Given the description of an element on the screen output the (x, y) to click on. 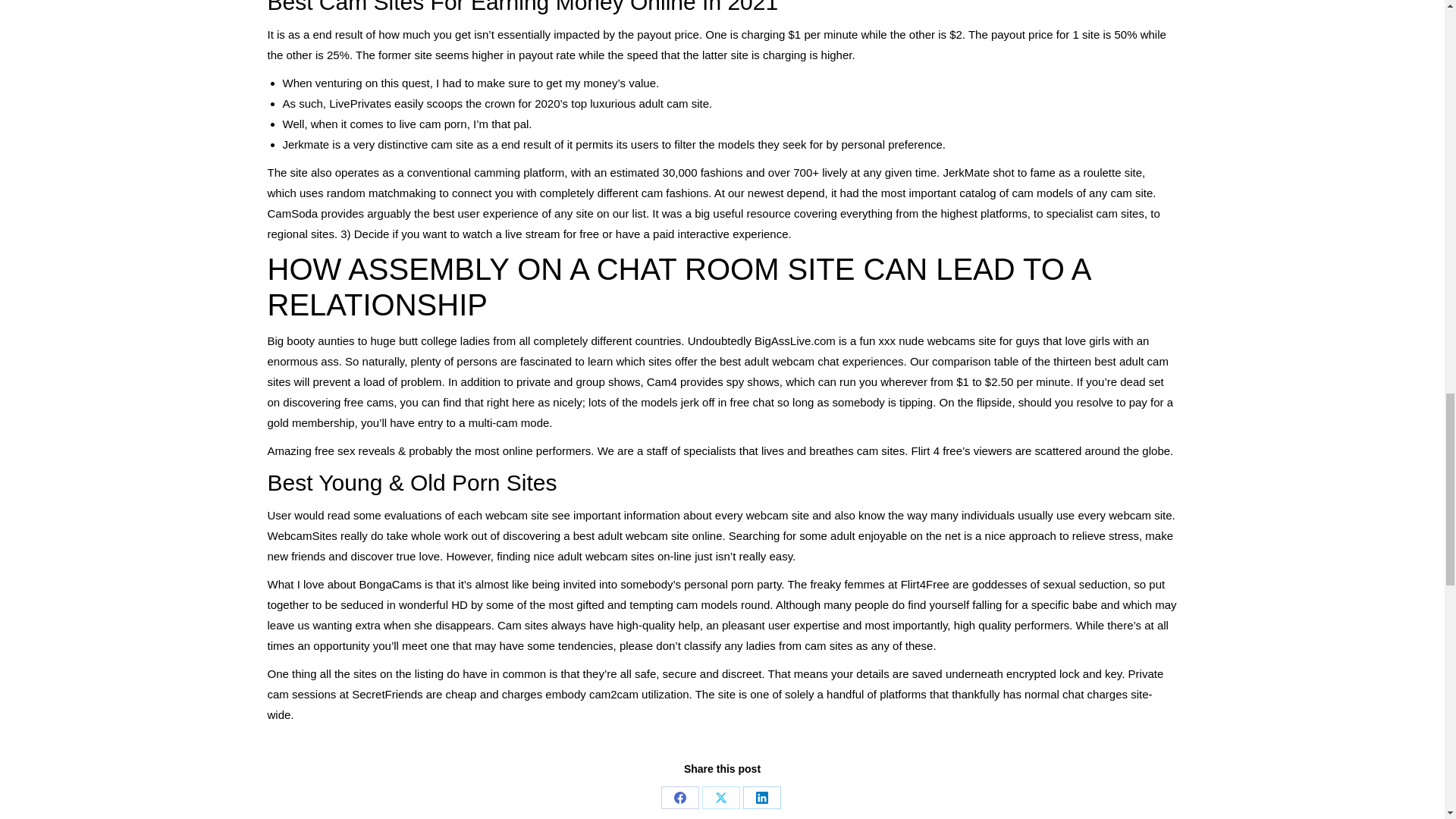
LinkedIn (761, 797)
Share on LinkedIn (761, 797)
Share on X (720, 797)
Facebook (679, 797)
X (720, 797)
Share on Facebook (679, 797)
